Given the description of an element on the screen output the (x, y) to click on. 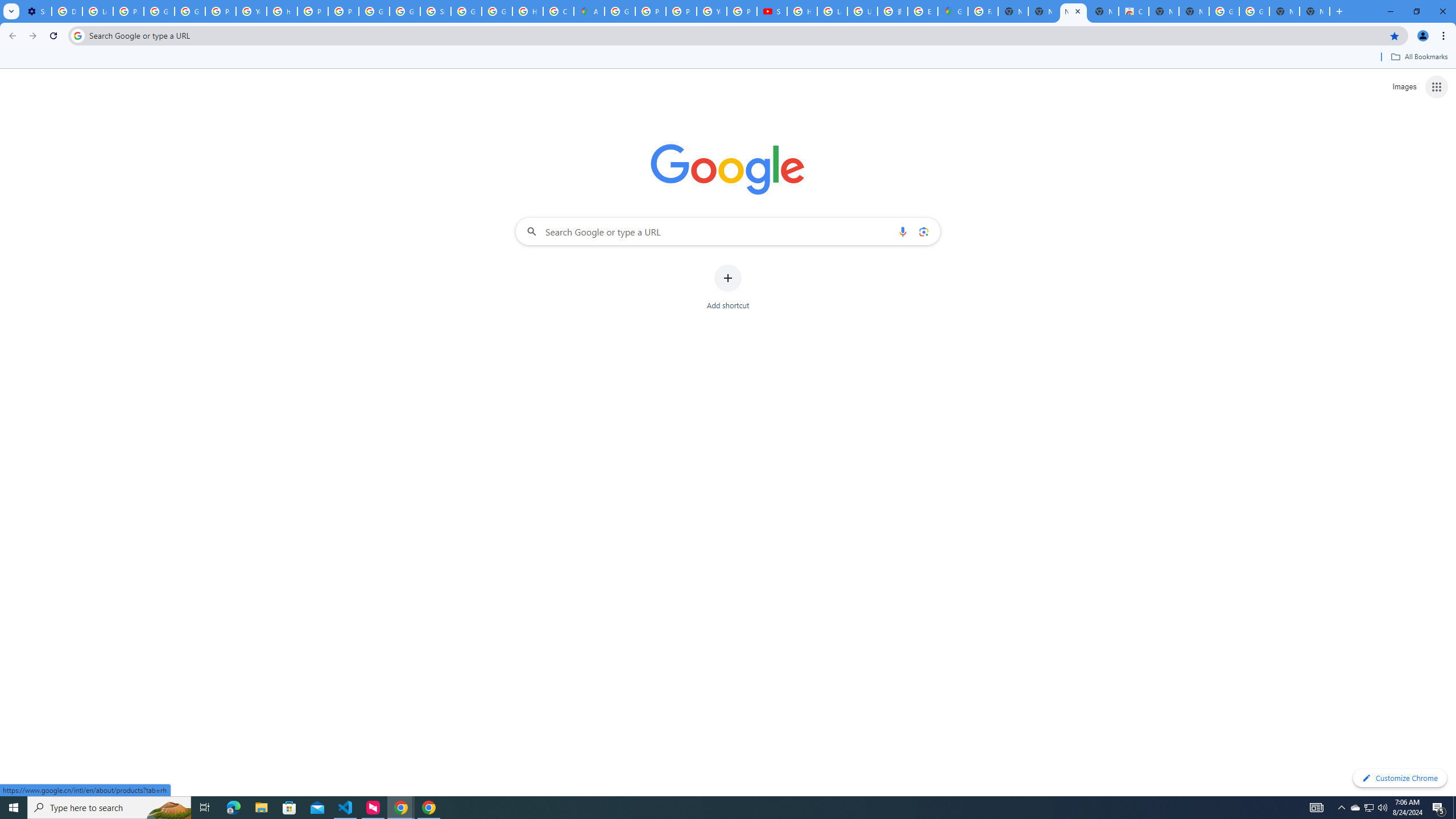
Privacy Help Center - Policies Help (650, 11)
Privacy Help Center - Policies Help (681, 11)
Bookmarks (728, 58)
Search Google or type a URL (727, 230)
New Tab (1314, 11)
Google Images (1224, 11)
